Given the description of an element on the screen output the (x, y) to click on. 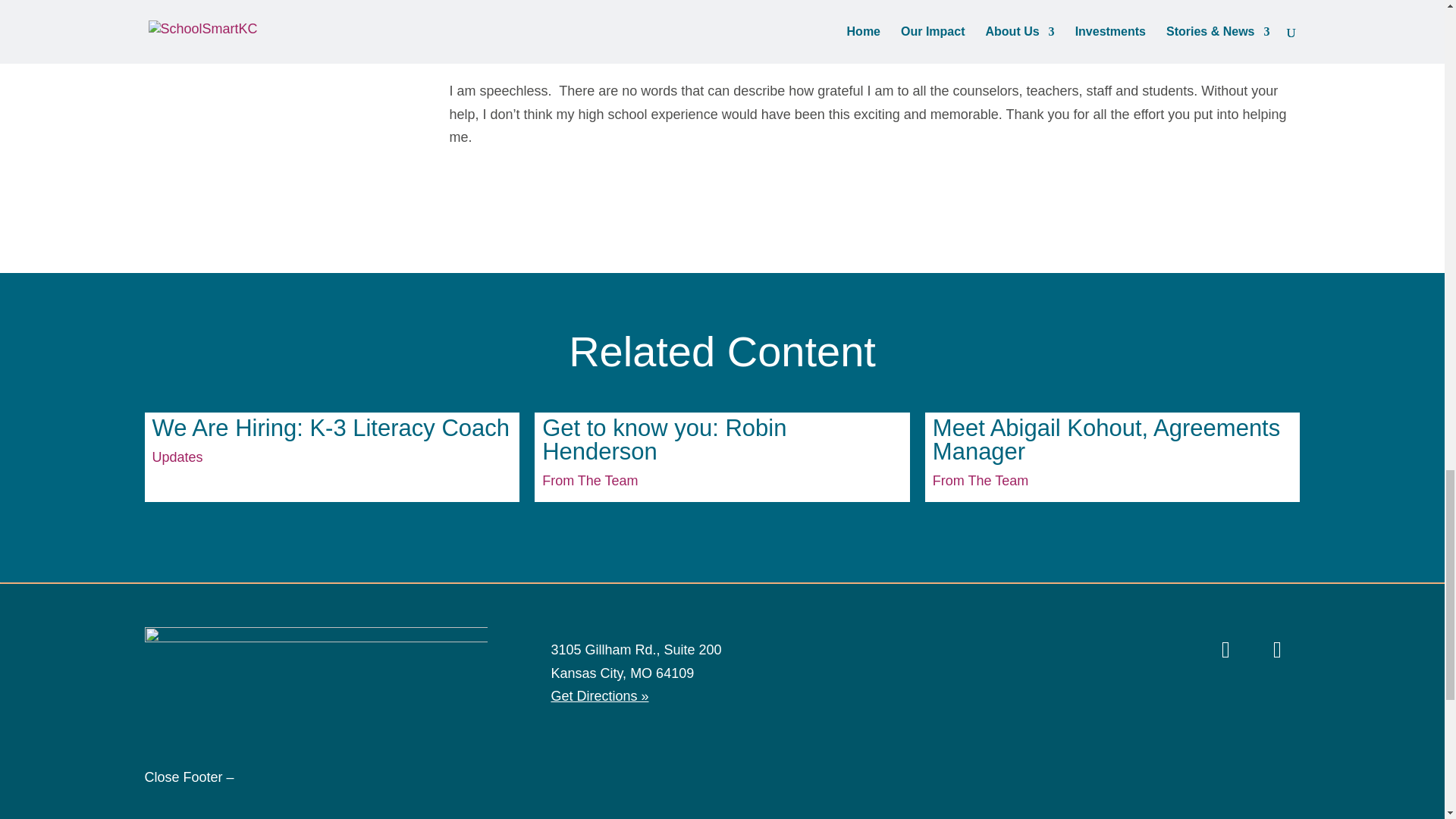
From The Team (980, 480)
Updates (176, 457)
From The Team (589, 480)
Follow on Youtube (1276, 649)
Follow on LinkedIn (1224, 649)
